Given the description of an element on the screen output the (x, y) to click on. 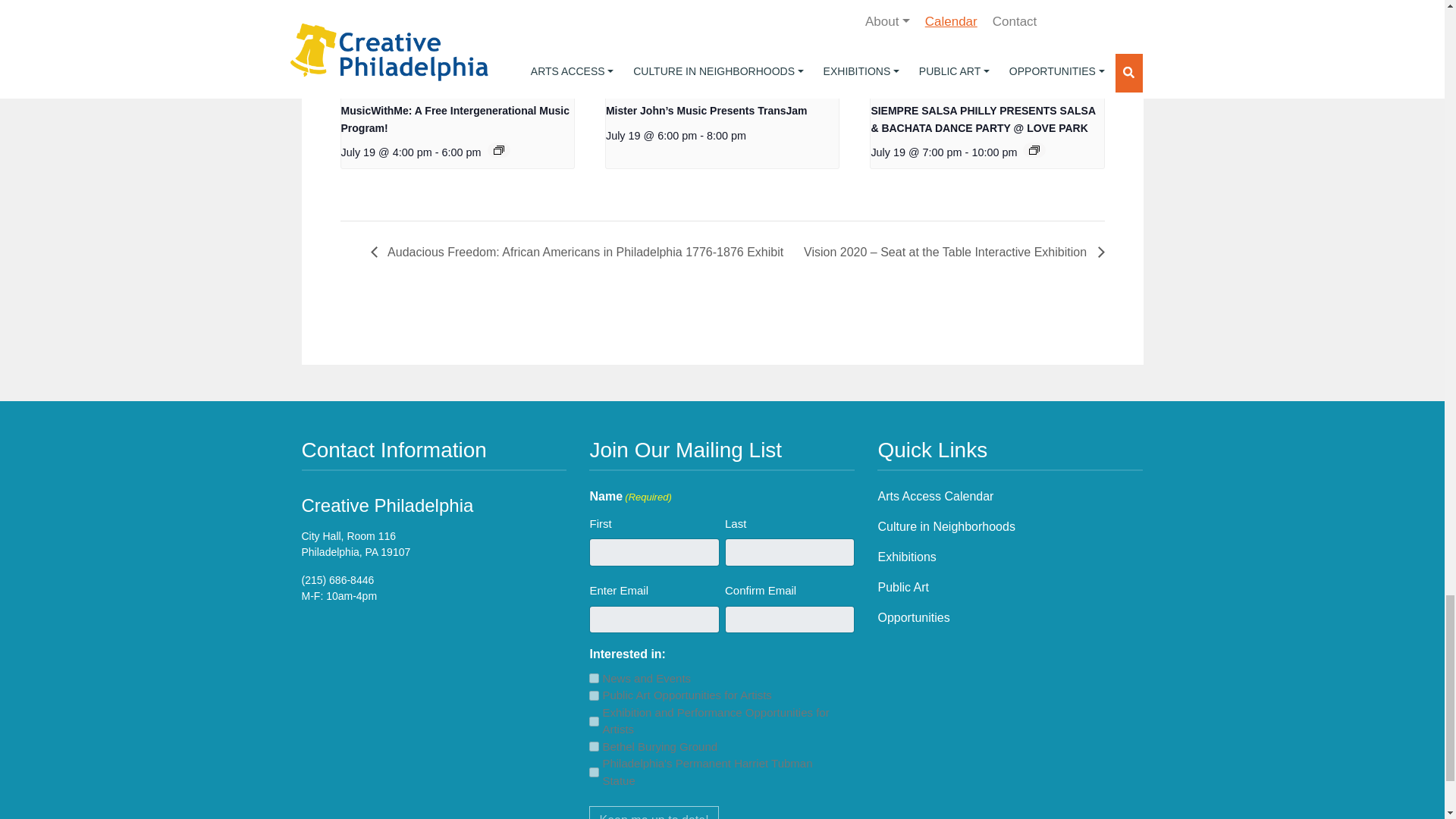
Exhibition and Performance Opportunities for Artists (593, 721)
Event Series (498, 149)
News and Events (593, 678)
Bethel Burying Ground (593, 746)
Philadelphia's Permanent Harriet Tubman Statue (593, 772)
Event Series (1034, 149)
Public Art Opportunities for Artists (593, 696)
